Given the description of an element on the screen output the (x, y) to click on. 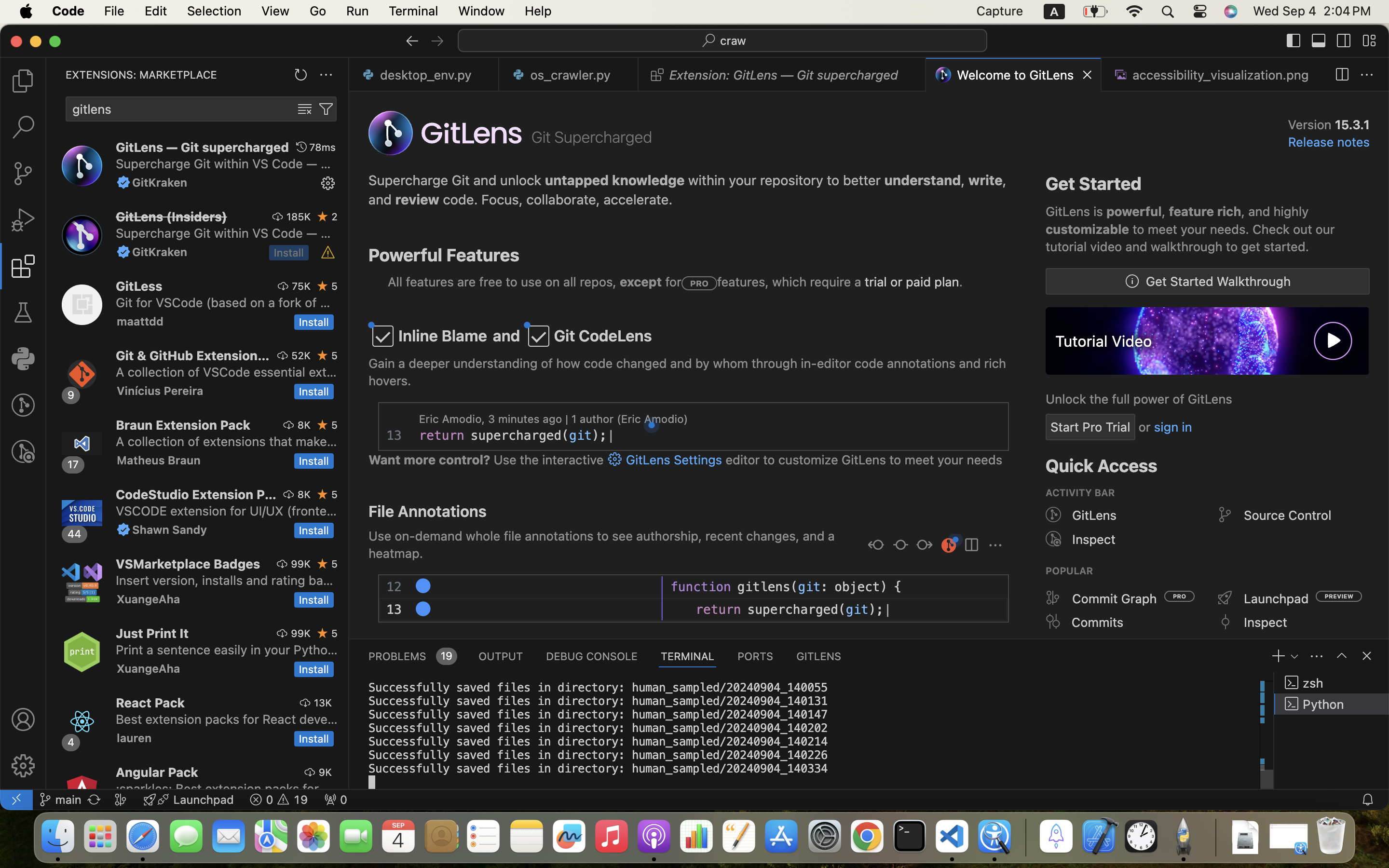
Unlock the full power of GitLens Element type: AXStaticText (1138, 398)
Use the interactive Element type: AXStaticText (548, 459)
 Element type: AXCheckBox (1344, 40)
Get Started Walkthrough Element type: AXStaticText (1218, 280)
 Element type: AXStaticText (327, 252)
